Given the description of an element on the screen output the (x, y) to click on. 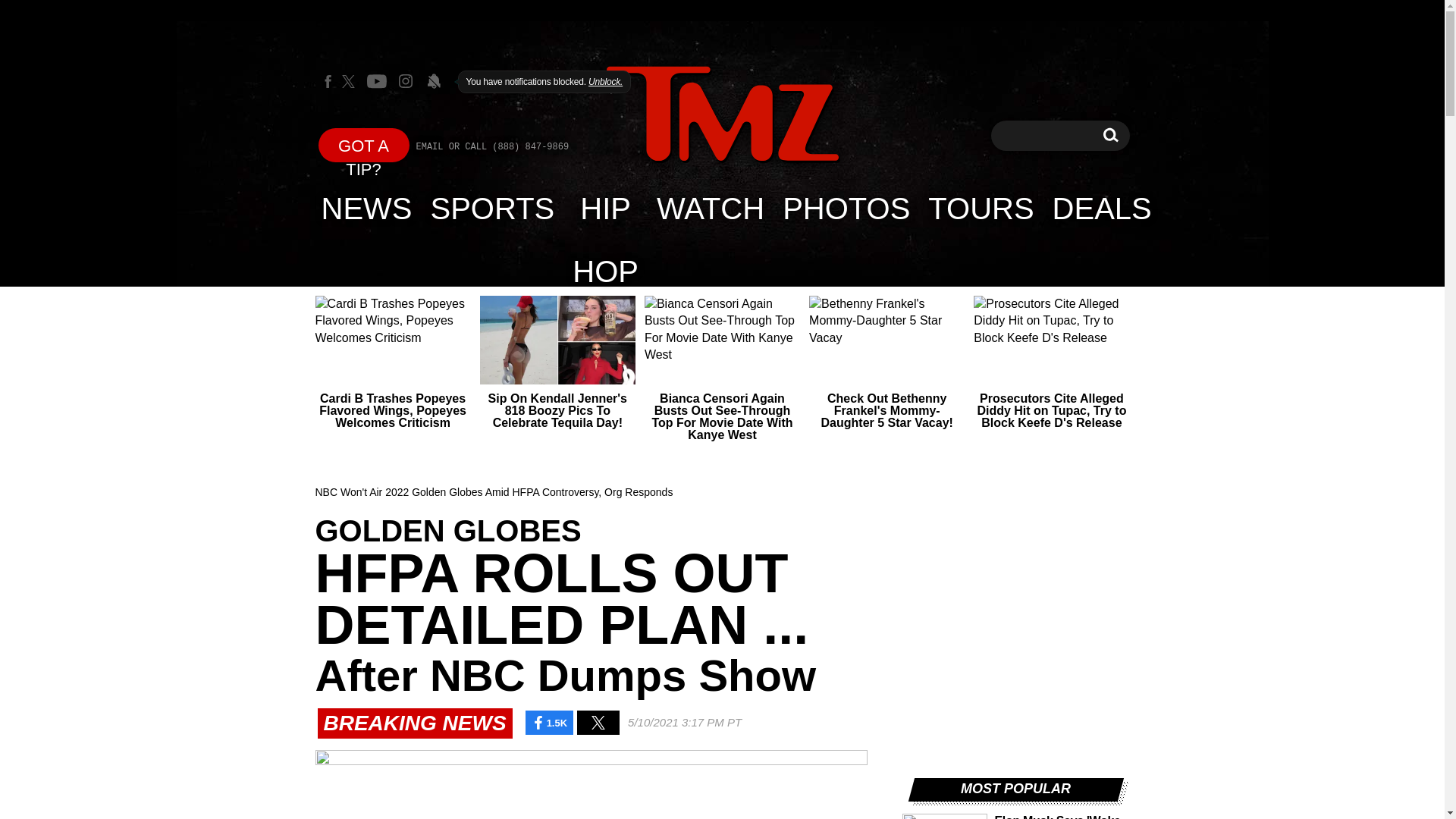
DEALS (1101, 207)
PHOTOS (845, 207)
Search (1110, 134)
GOT A TIP? (363, 144)
WATCH (710, 207)
You have notifications blocked (434, 80)
TMZ (722, 113)
TOURS (980, 207)
HIP HOP (605, 207)
SPORTS (493, 207)
TMZ (722, 115)
NEWS (367, 207)
